Given the description of an element on the screen output the (x, y) to click on. 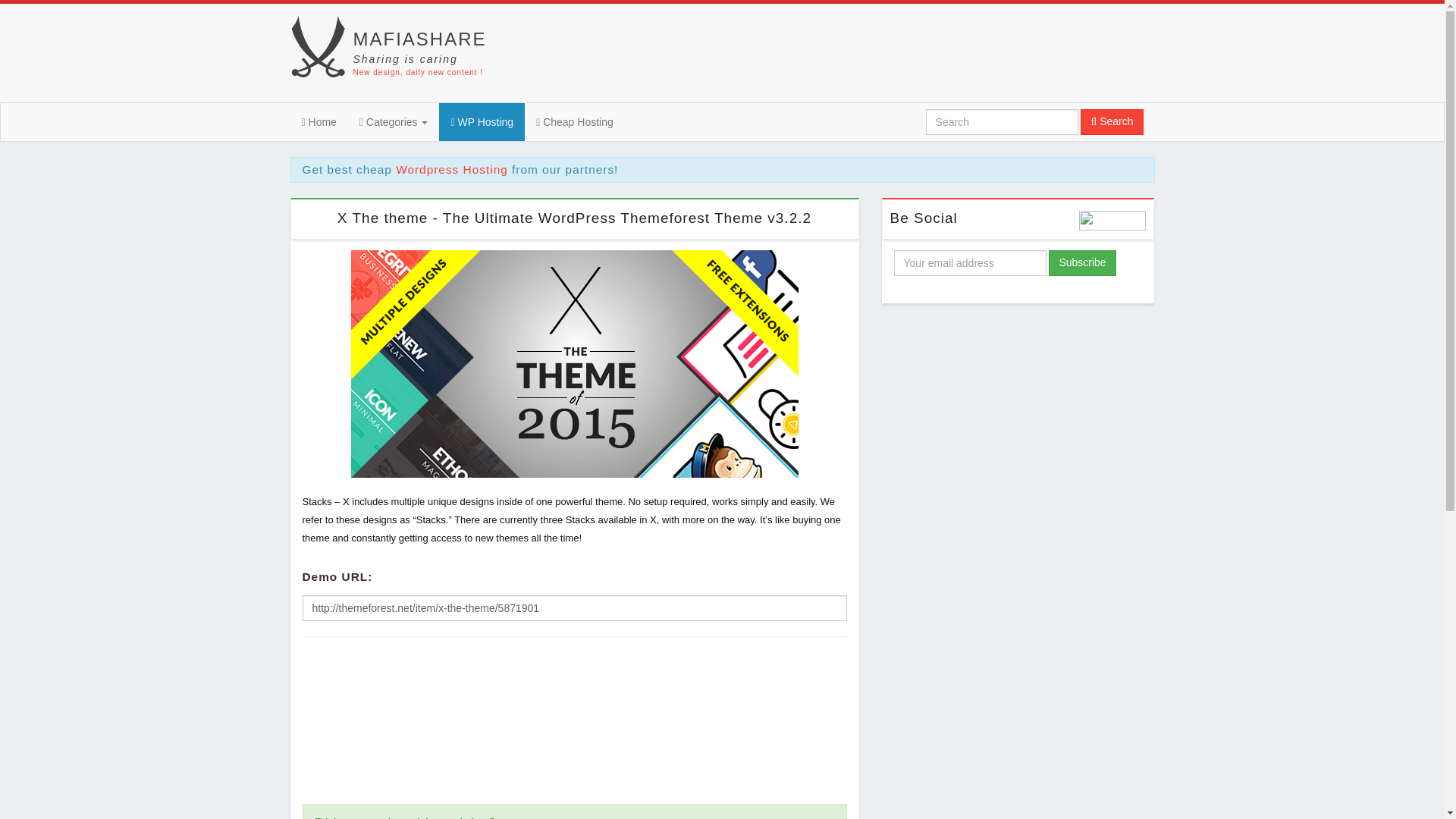
Categories (393, 121)
Wordpress Hosting (452, 169)
Subscribe (1081, 263)
Advertisement (395, 53)
WP Hosting (1017, 424)
Cheap Hosting (481, 121)
Advertisement (574, 121)
Home (573, 719)
Search (318, 121)
